Given the description of an element on the screen output the (x, y) to click on. 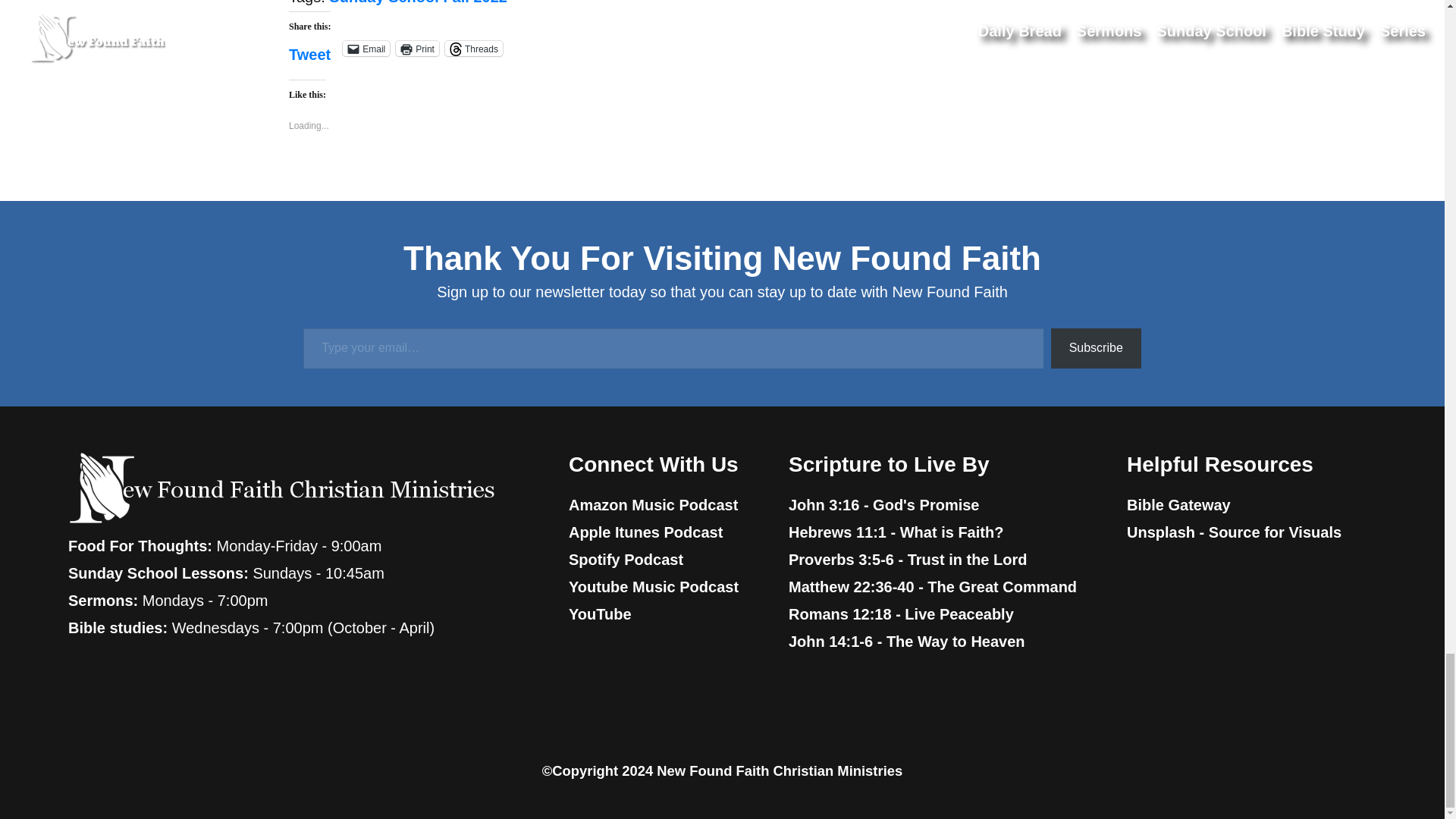
Bible Gateway (1178, 504)
Spotify Podcast (625, 559)
YouTube (600, 614)
Matthew 22:36-40 - The Great Command (933, 586)
Apple Itunes Podcast (645, 532)
Romans 12:18 - Live Peaceably (901, 614)
Unsplash - Source for Visuals (1233, 532)
Please fill in this field. (672, 348)
John 3:16 - God's Promise (883, 504)
John 14:1-6 - The Way to Heaven (907, 641)
Hebrews 11:1 - What is Faith? (896, 532)
Proverbs 3:5-6 - Trust in the Lord (908, 559)
Subscribe (1096, 348)
Threads (473, 48)
Youtube Music Podcast (653, 586)
